Given the description of an element on the screen output the (x, y) to click on. 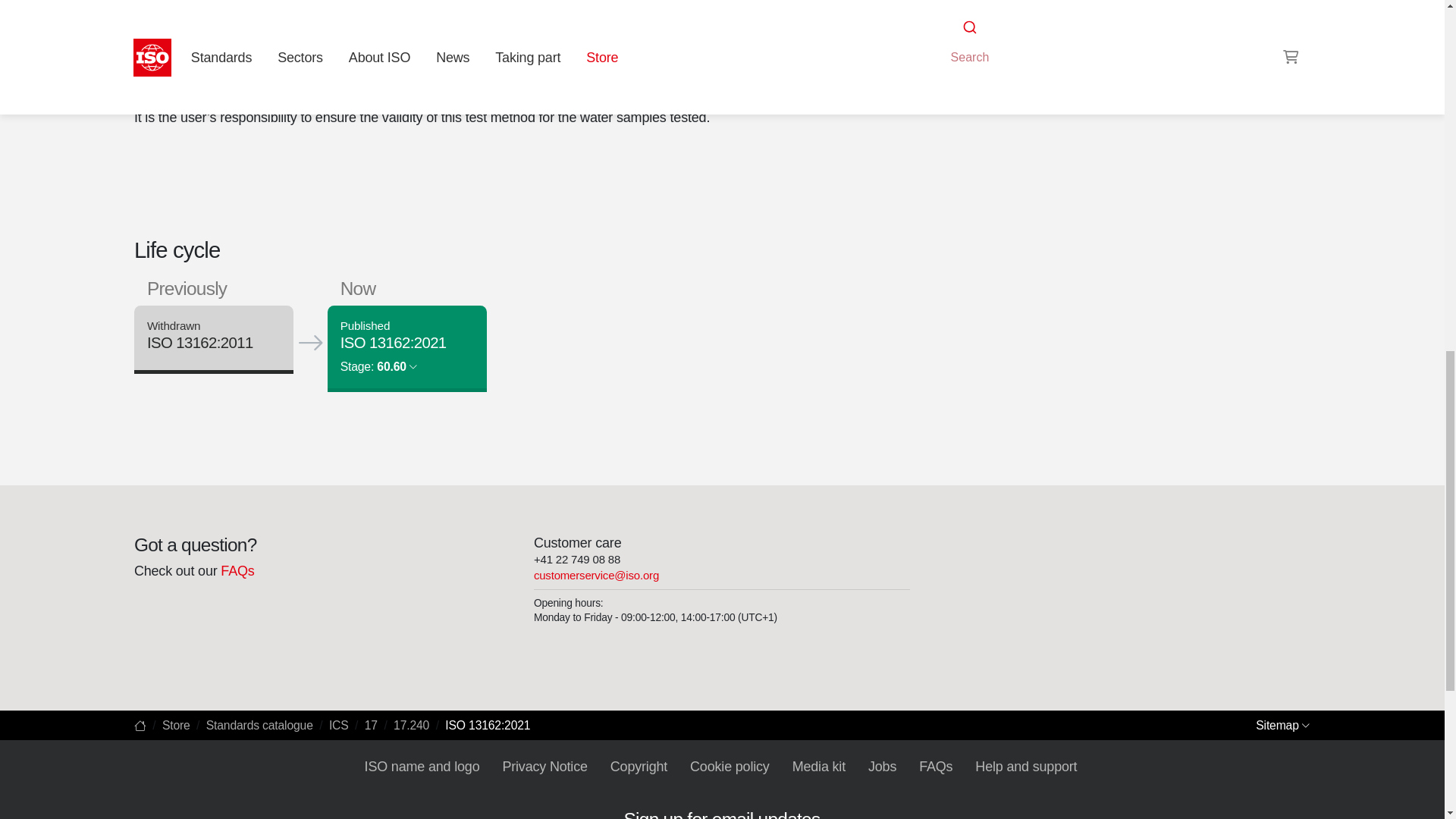
Radiation measurements (988, 40)
ISO 13162:2011 (199, 342)
13.060.60 (1045, 40)
17.240 (988, 40)
Radioactivity measurements (1120, 22)
Examination of physical properties of water (1045, 40)
RSS (956, 70)
